Given the description of an element on the screen output the (x, y) to click on. 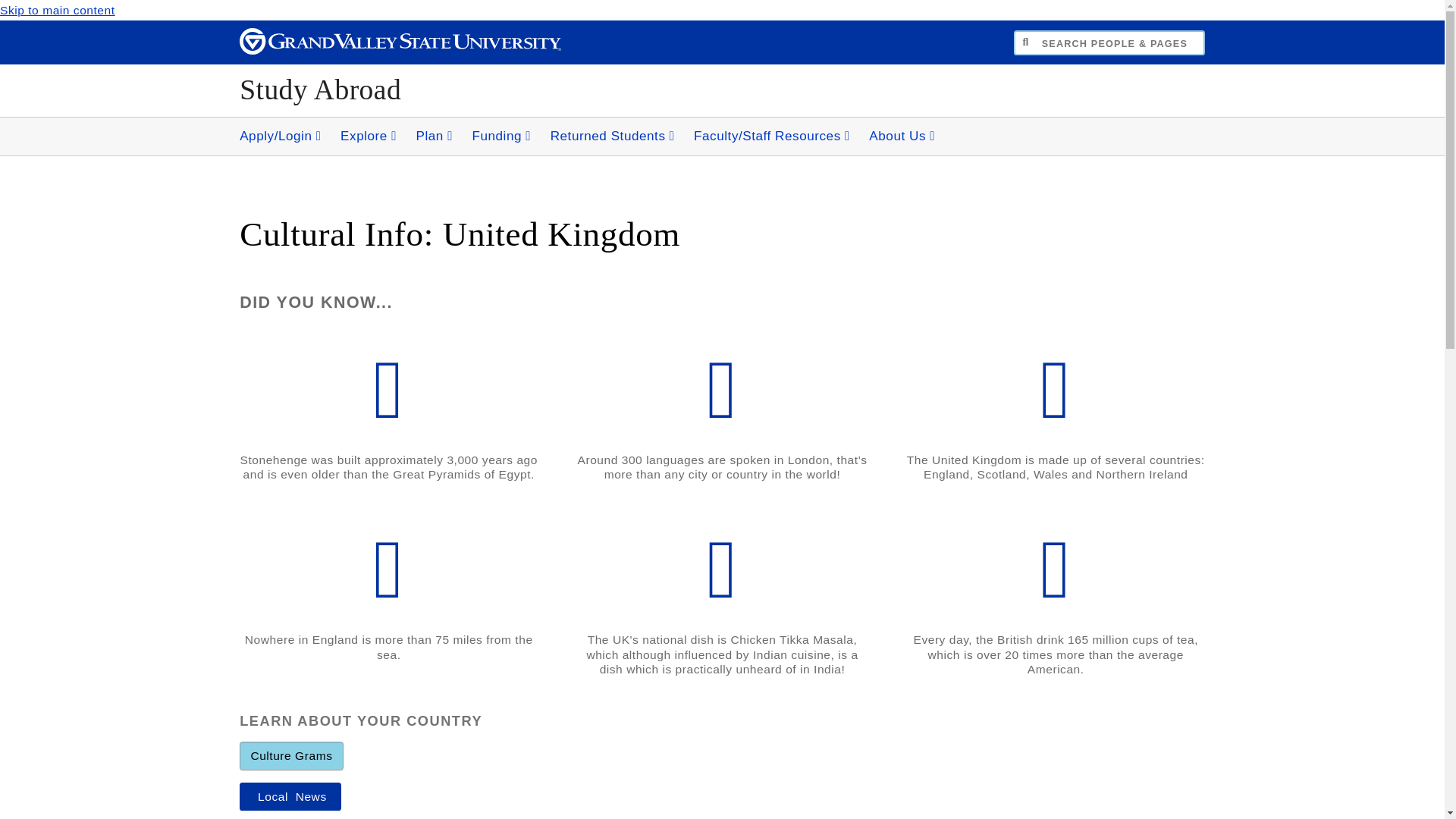
Returned Students (612, 136)
Skip to main content (57, 10)
Plan (433, 136)
Study Abroad (320, 89)
About Us (901, 136)
Explore (368, 136)
Funding (501, 136)
